Given the description of an element on the screen output the (x, y) to click on. 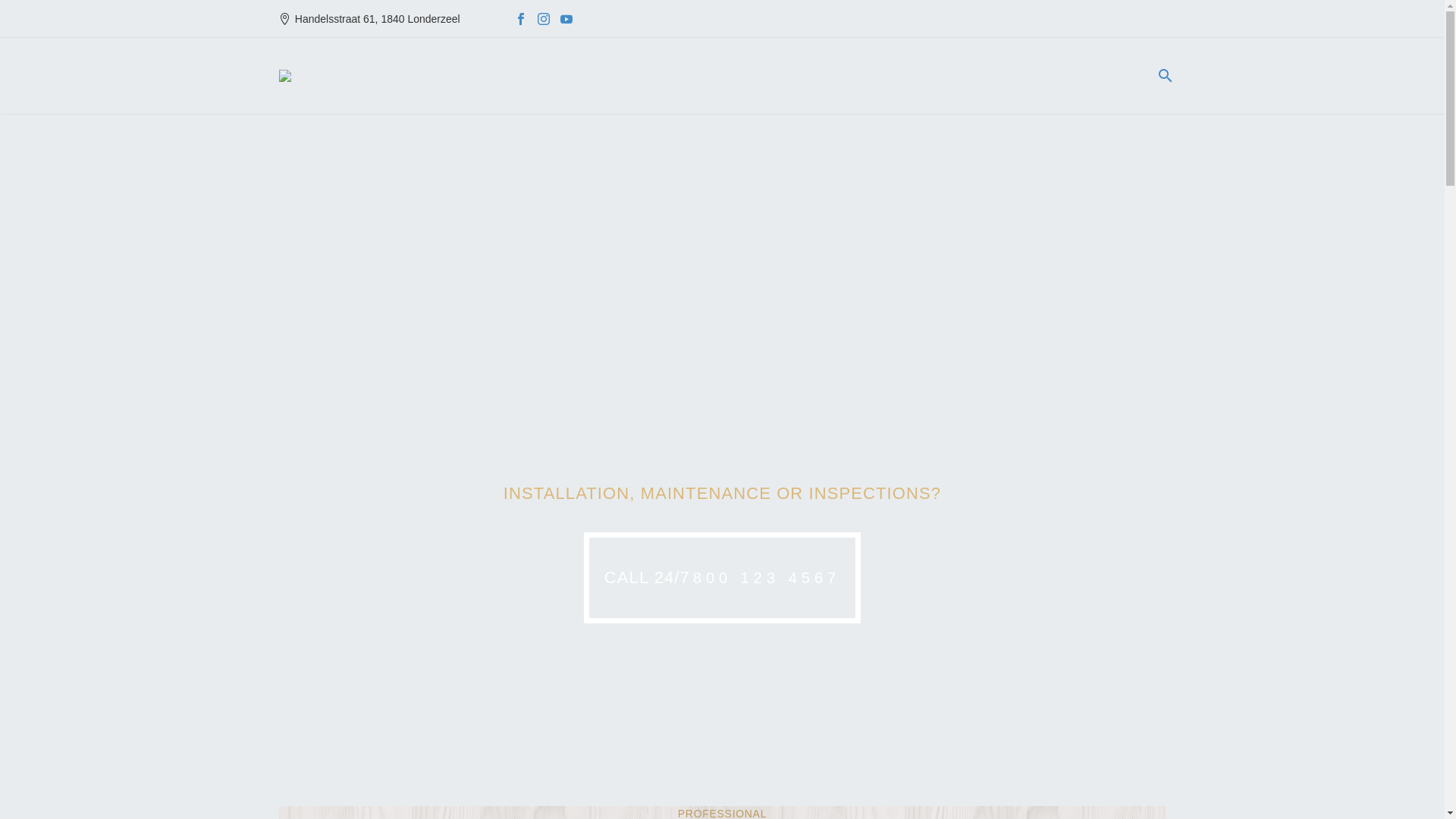
Instagram Element type: hover (543, 18)
YouTube Element type: hover (566, 18)
Facebook Element type: hover (520, 18)
